Given the description of an element on the screen output the (x, y) to click on. 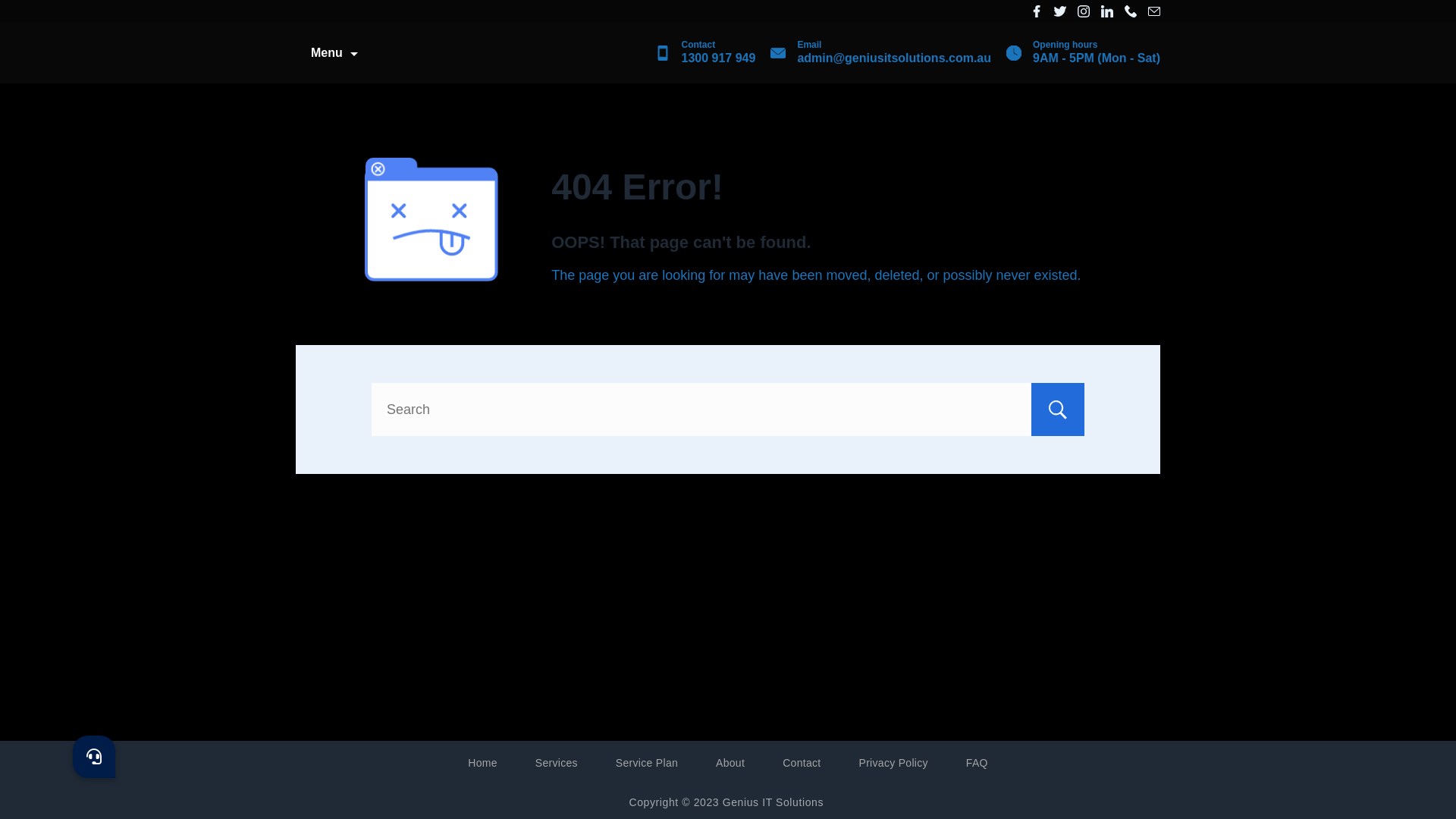
Services Element type: text (556, 762)
Home Element type: text (482, 762)
Menu Element type: text (333, 52)
Service Plan Element type: text (646, 762)
About Element type: text (729, 762)
Privacy Policy Element type: text (893, 762)
Search Element type: text (1057, 409)
Search Input Element type: hover (727, 409)
FAQ Element type: text (977, 762)
Contact Element type: text (801, 762)
1300 917 949 Element type: text (717, 57)
admin@geniusitsolutions.com.au Element type: text (894, 57)
